Given the description of an element on the screen output the (x, y) to click on. 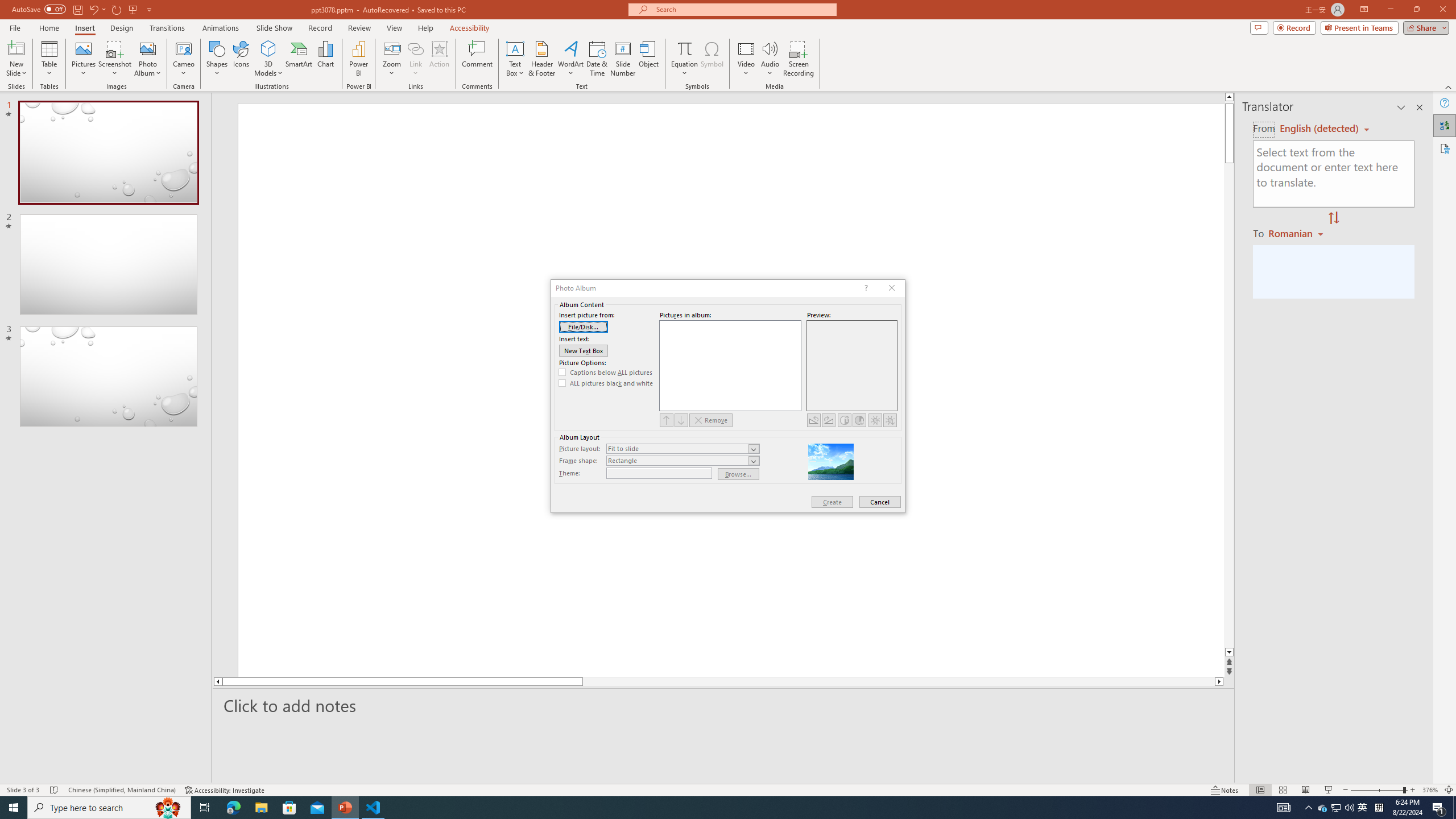
Create (831, 501)
Less Brightness (889, 419)
